Given the description of an element on the screen output the (x, y) to click on. 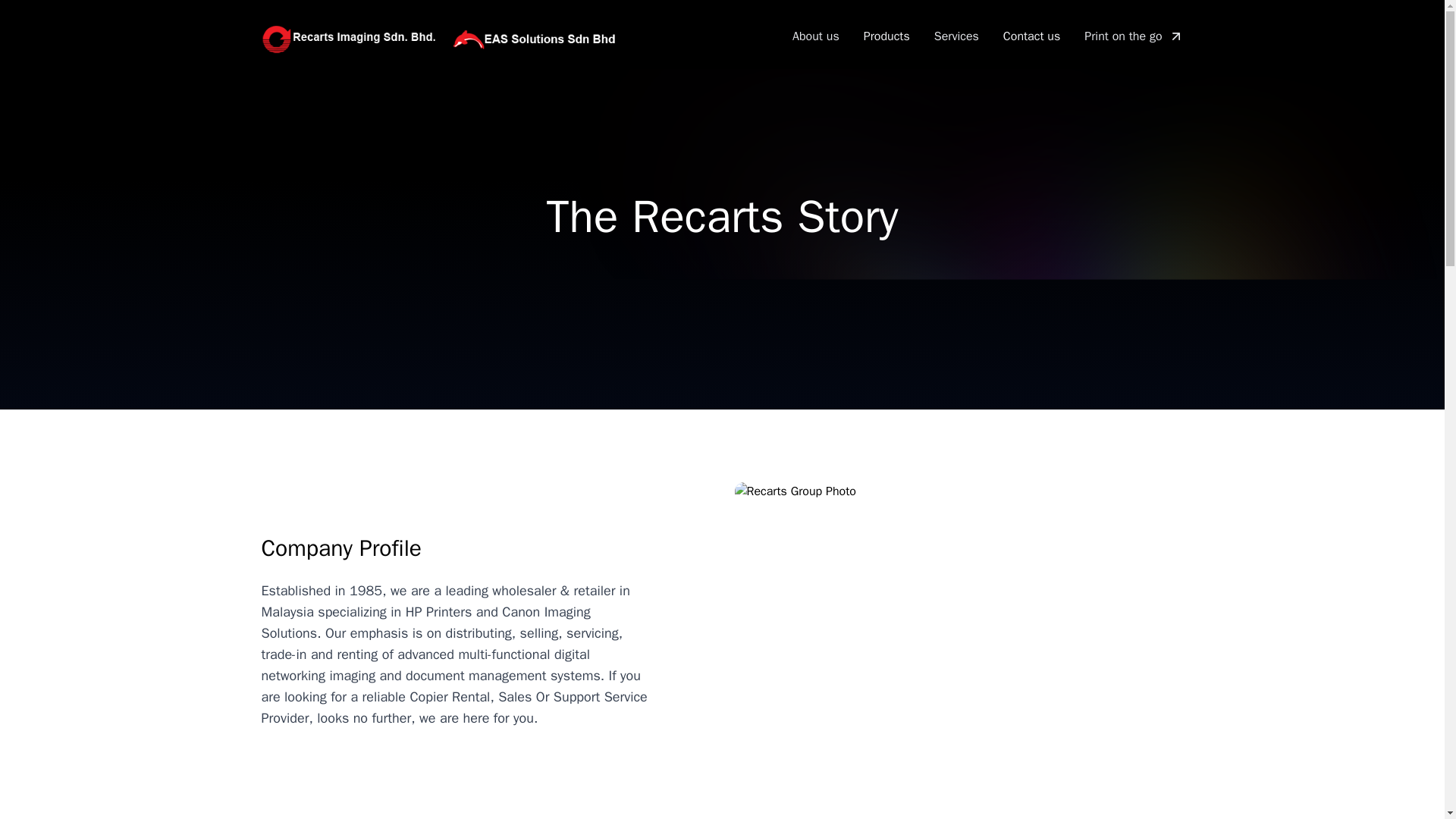
Services (956, 36)
Contact us (1031, 36)
Recarts Imaging Sdn. Bhd. (443, 39)
About us (816, 36)
Products (886, 36)
Print on the go (1133, 36)
